Given the description of an element on the screen output the (x, y) to click on. 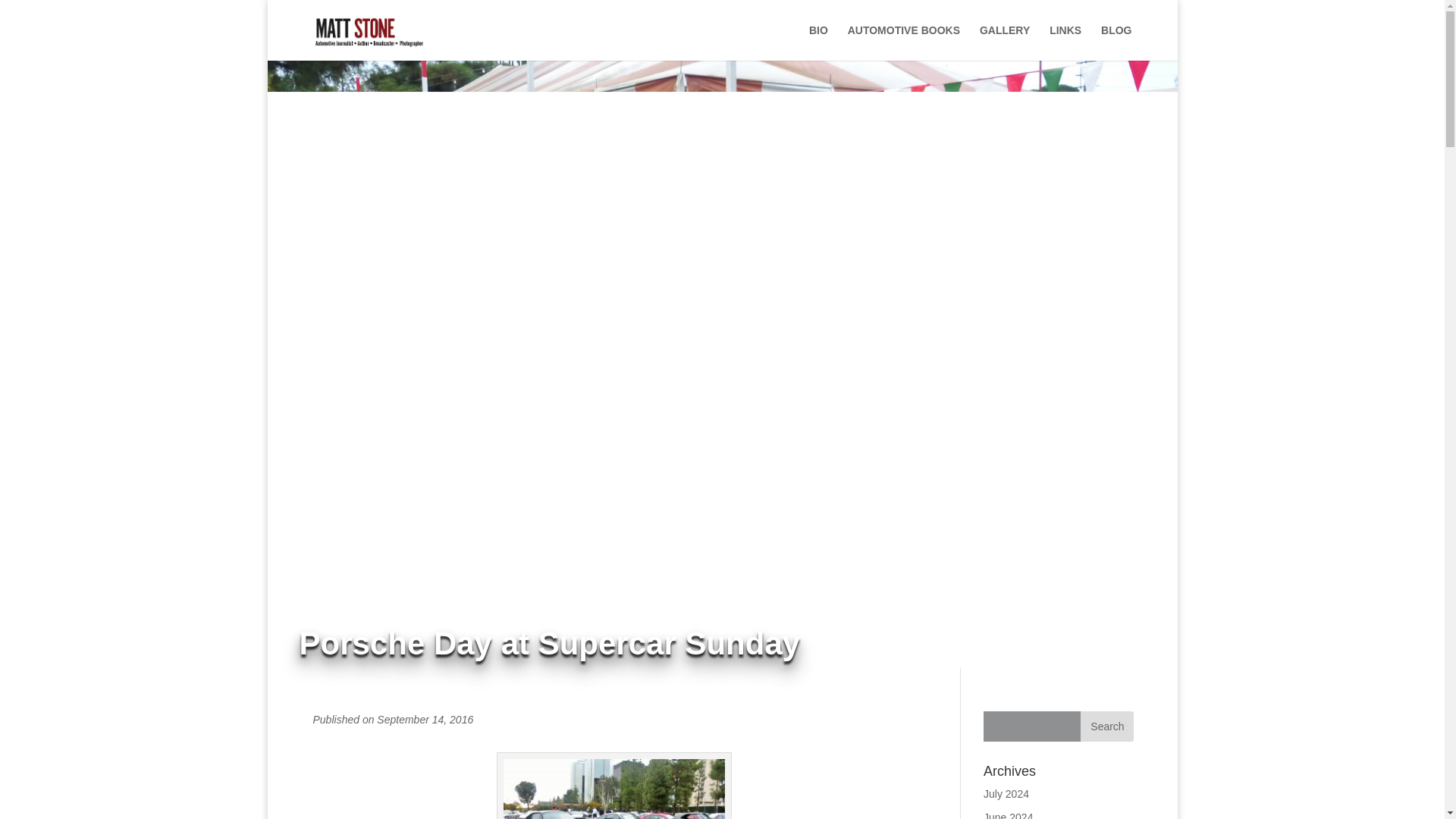
Search (1107, 726)
LINKS (1065, 42)
Search (1107, 726)
July 2024 (1006, 793)
June 2024 (1008, 815)
AUTOMOTIVE BOOKS (903, 42)
GALLERY (1004, 42)
